Given the description of an element on the screen output the (x, y) to click on. 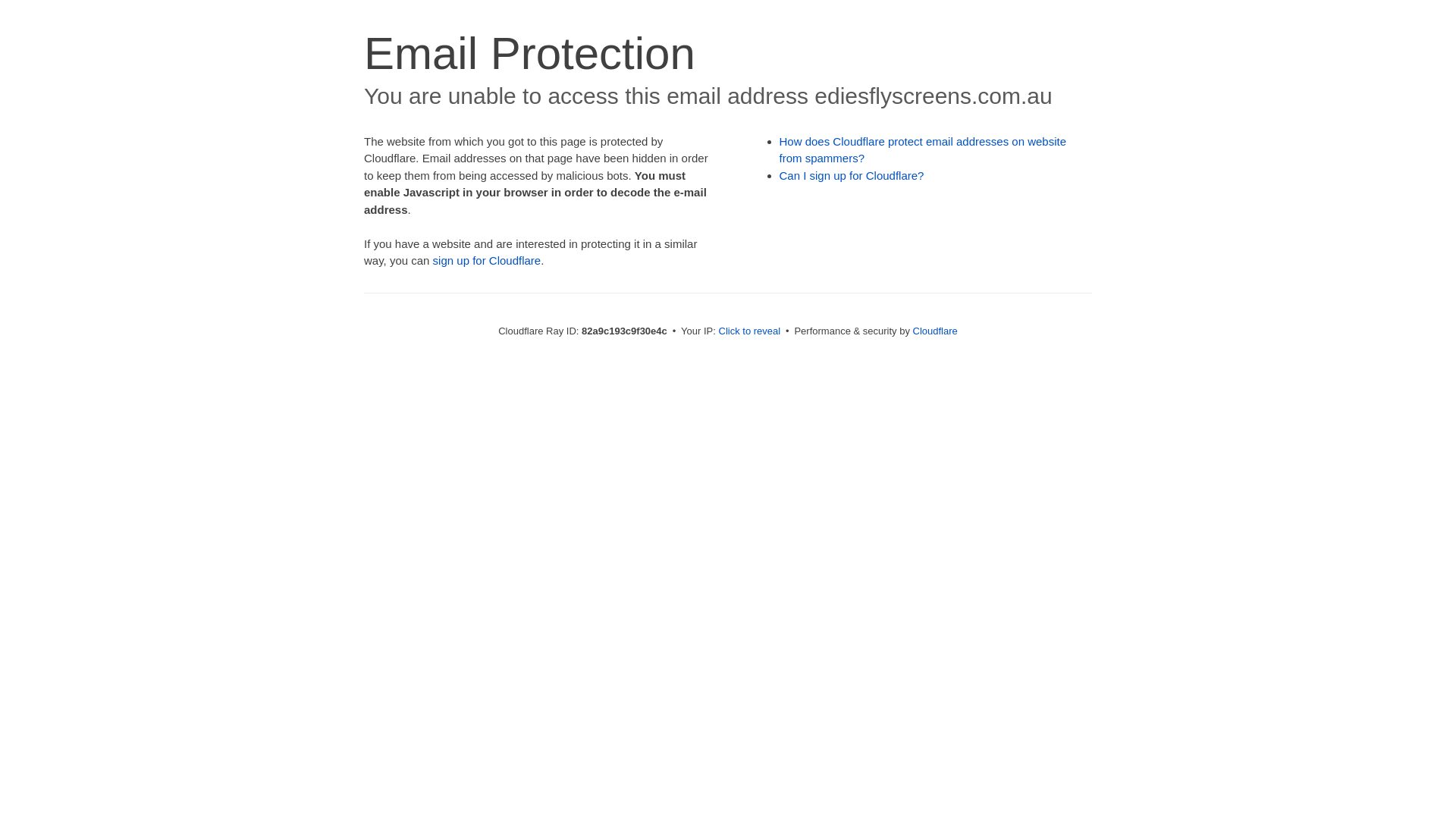
Can I sign up for Cloudflare? Element type: text (851, 175)
Cloudflare Element type: text (935, 330)
sign up for Cloudflare Element type: text (487, 260)
Click to reveal Element type: text (749, 330)
